Given the description of an element on the screen output the (x, y) to click on. 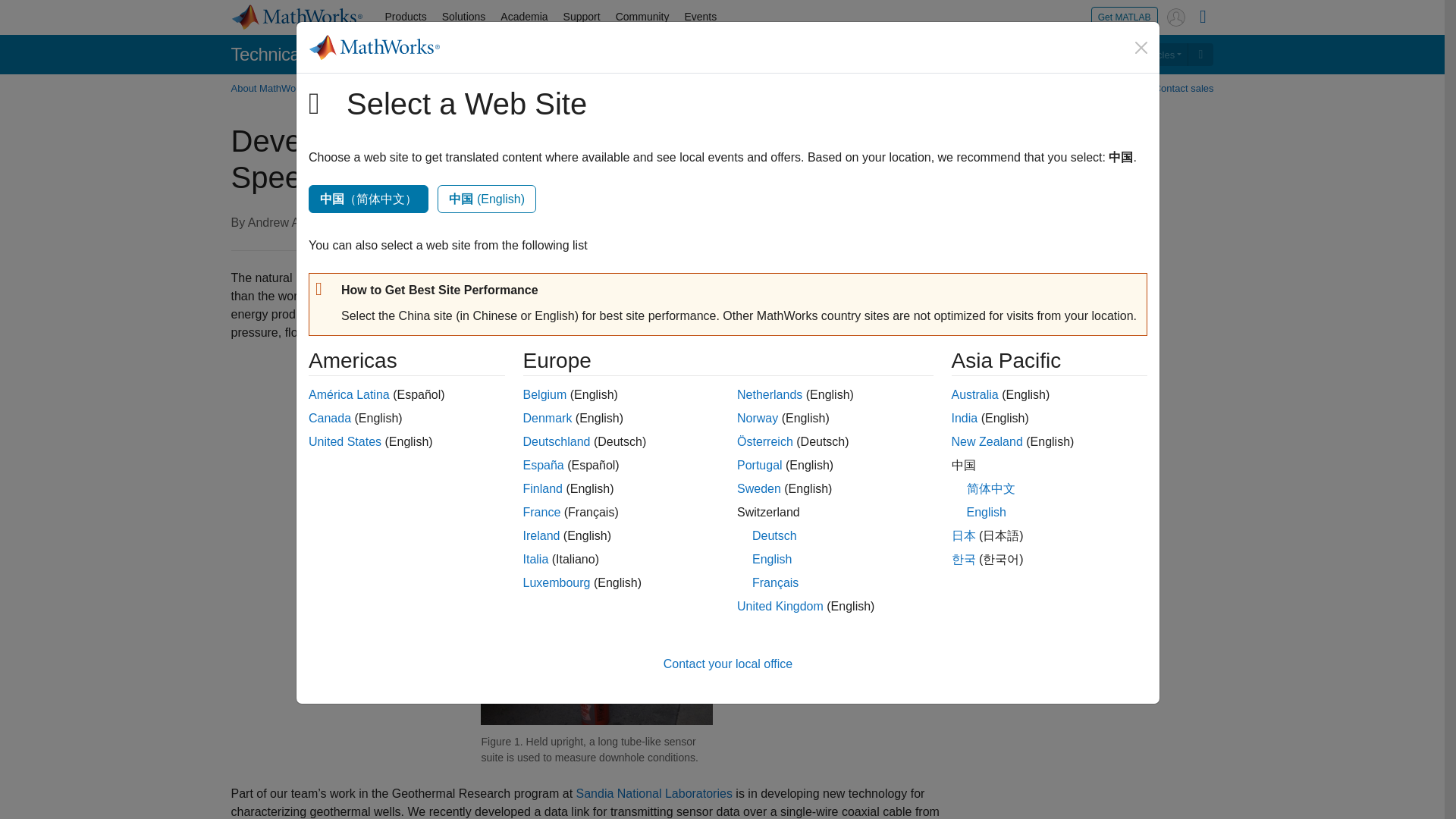
Support (582, 16)
About MathWorks (273, 88)
Community (642, 16)
Events (700, 16)
Sign In to Your MathWorks Account (1175, 17)
Solutions (463, 16)
Get MATLAB (1123, 16)
Products (405, 16)
Sign In (1175, 17)
Academia (523, 16)
Technical Articles (1140, 54)
